Given the description of an element on the screen output the (x, y) to click on. 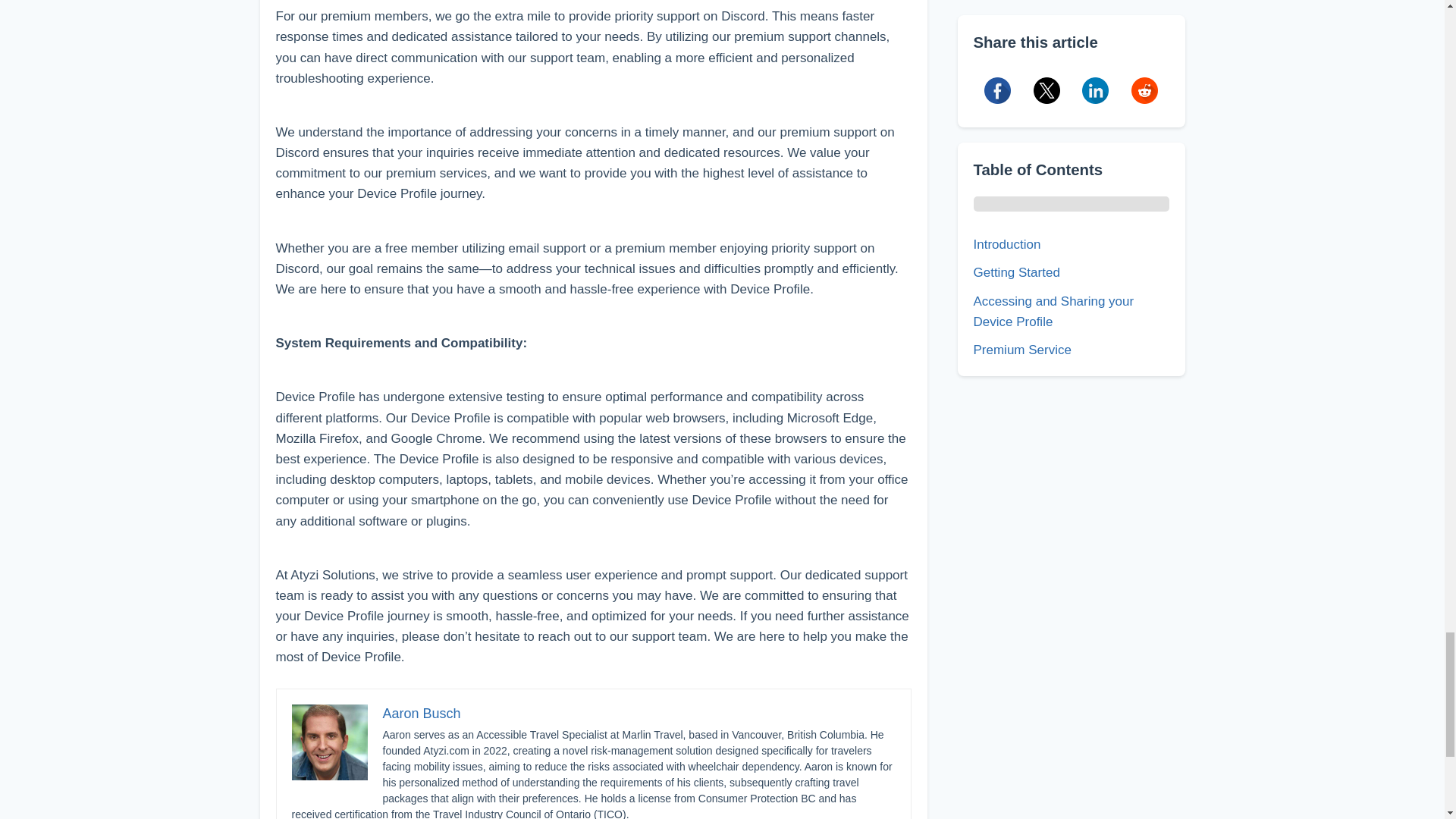
Aaron Busch (420, 713)
